Given the description of an element on the screen output the (x, y) to click on. 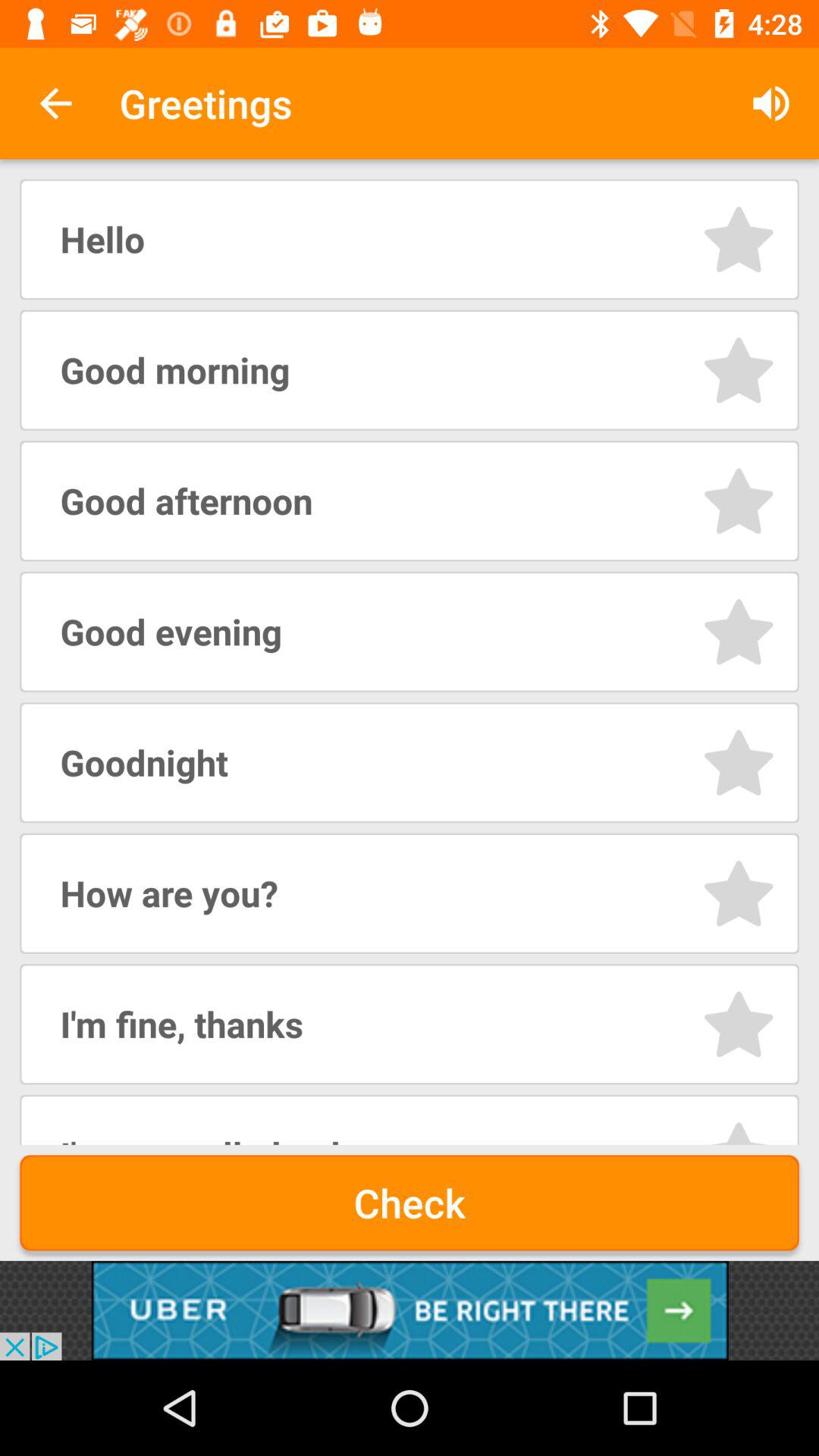
favorite (738, 1024)
